Given the description of an element on the screen output the (x, y) to click on. 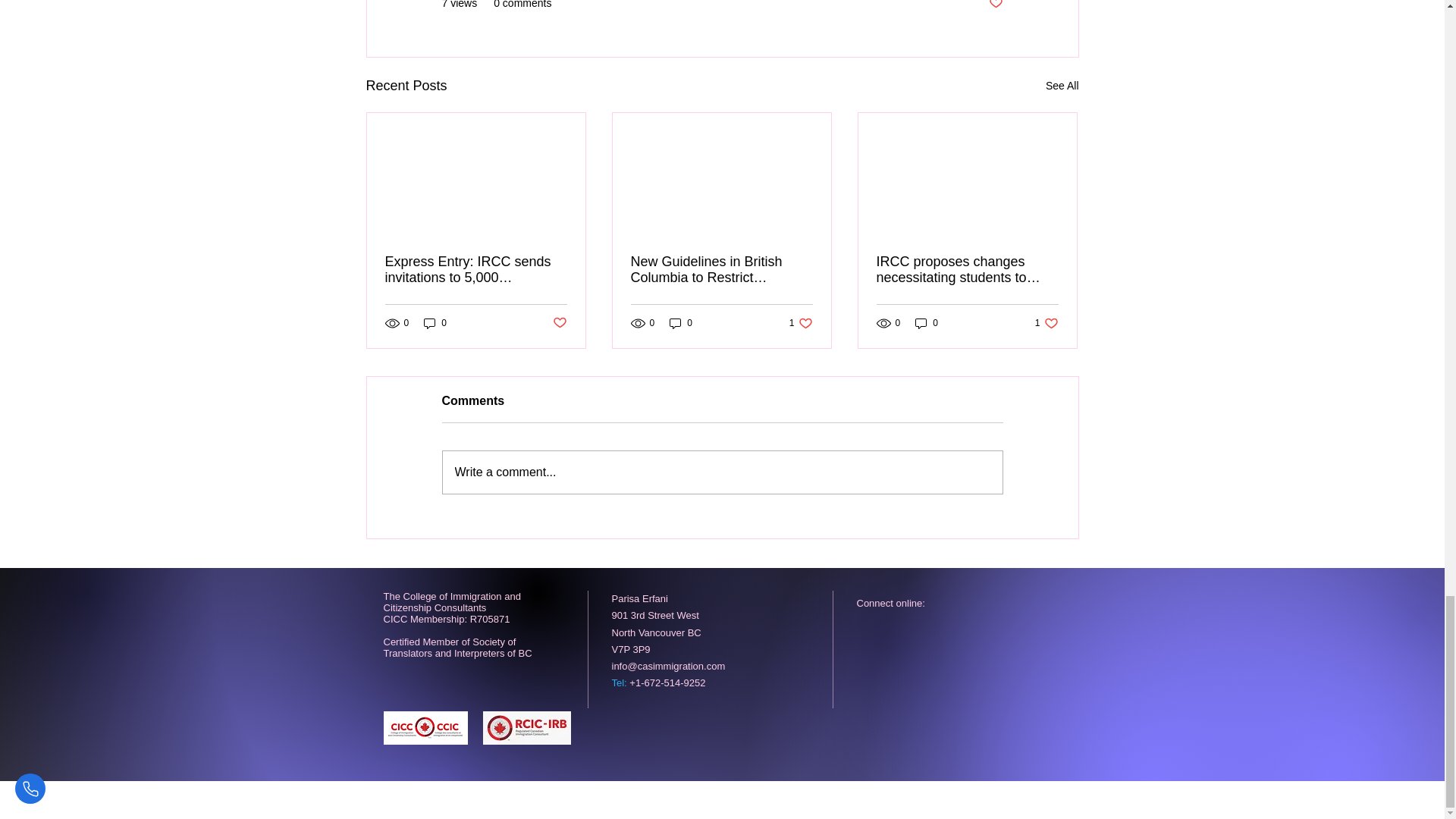
Post not marked as liked (995, 5)
